Given the description of an element on the screen output the (x, y) to click on. 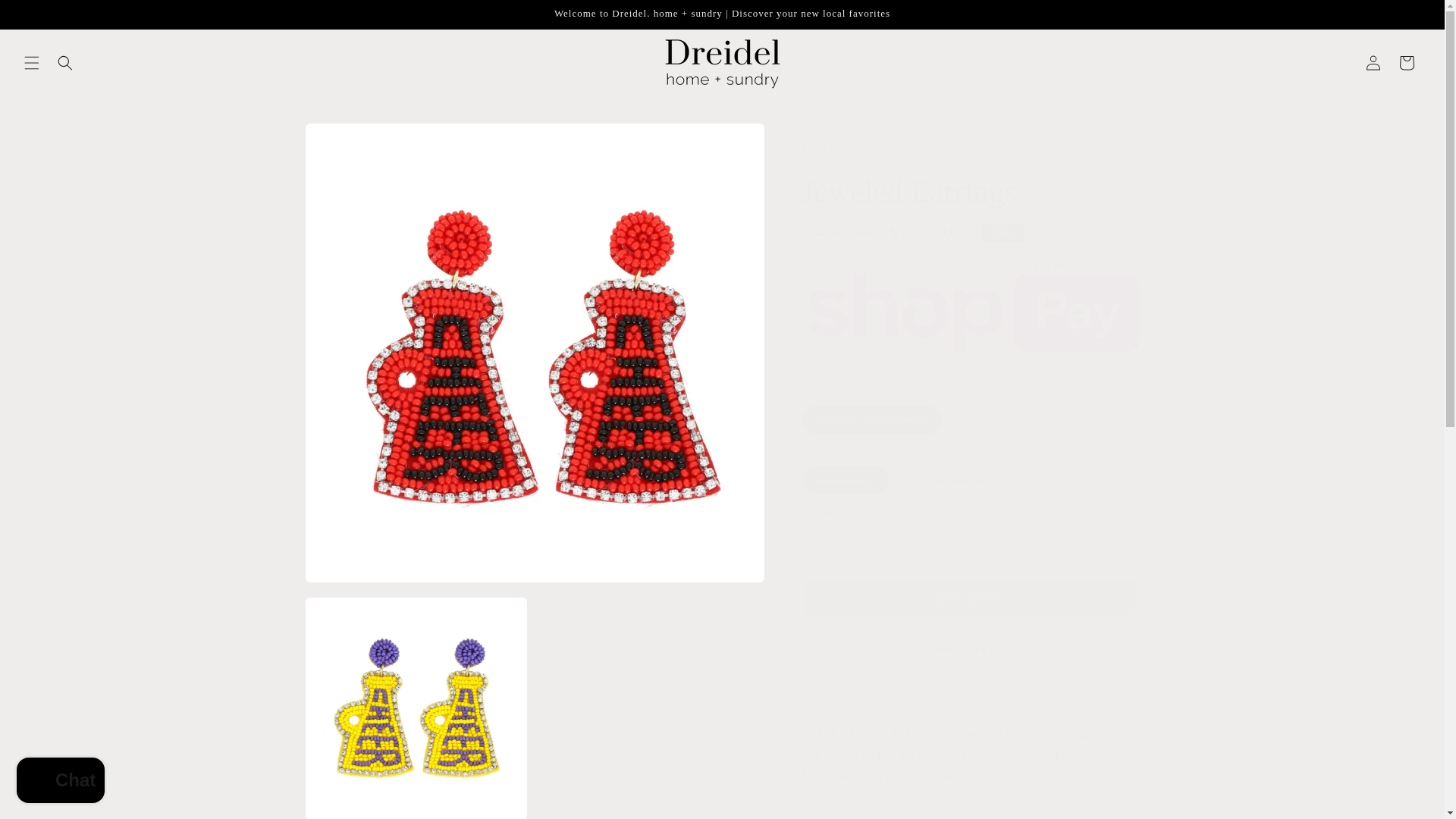
View store information (873, 693)
1 (856, 543)
Cart (1406, 62)
Log in (1373, 62)
Shopify online store chat (60, 781)
Decrease quantity for Jeweled Earrings (818, 543)
Skip to content (45, 17)
